Given the description of an element on the screen output the (x, y) to click on. 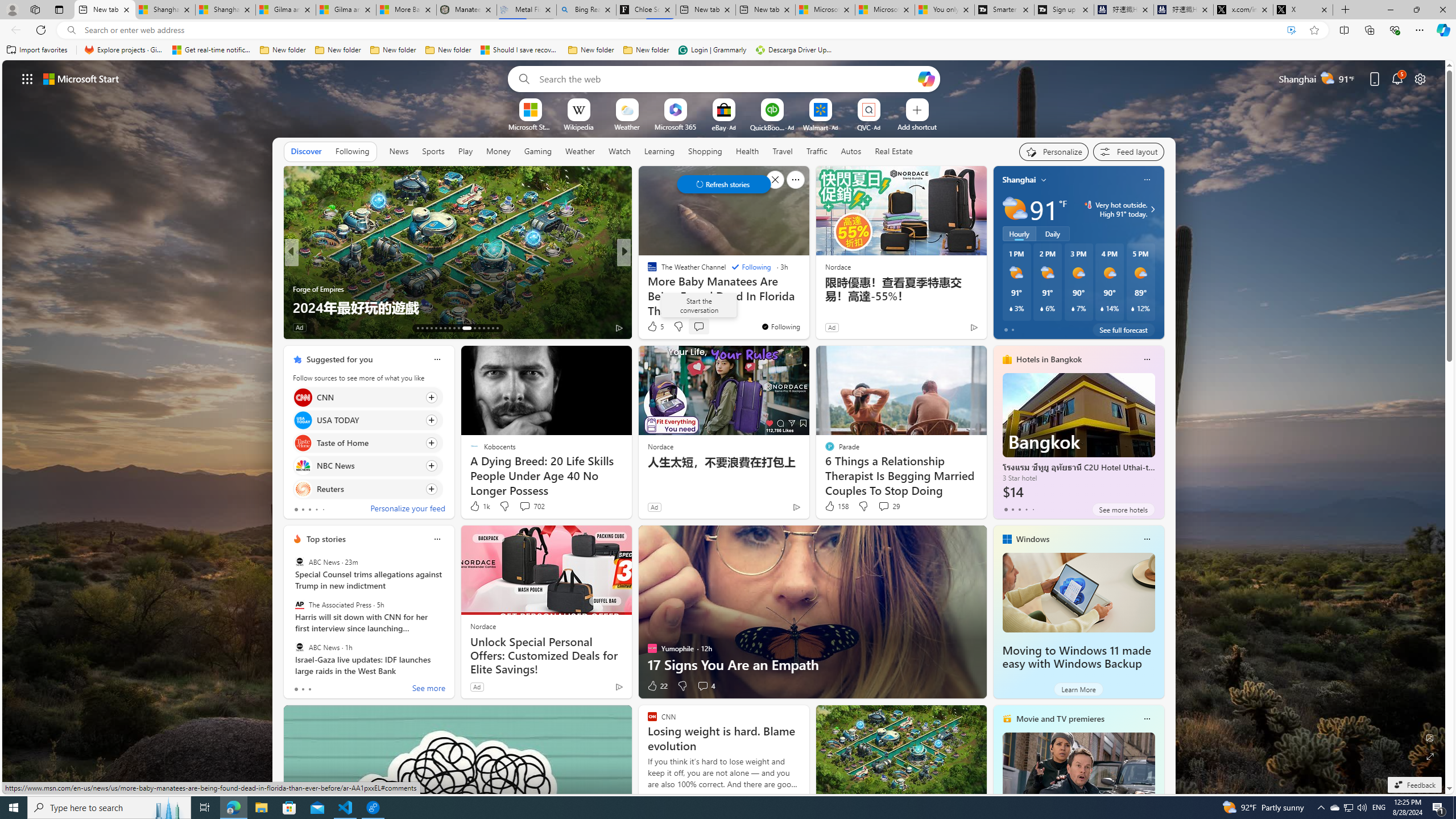
View comments 5 Comment (705, 327)
AutomationID: tab-25 (478, 328)
The Verge (647, 270)
See full forecast (1123, 329)
12 YouTube Features You'll Kick Yourself For Not Using (807, 298)
Personalize your feed (407, 509)
Nordace.com (663, 288)
AutomationID: backgroundImagePicture (723, 426)
17 Like (652, 327)
Wikipedia (578, 126)
